Given the description of an element on the screen output the (x, y) to click on. 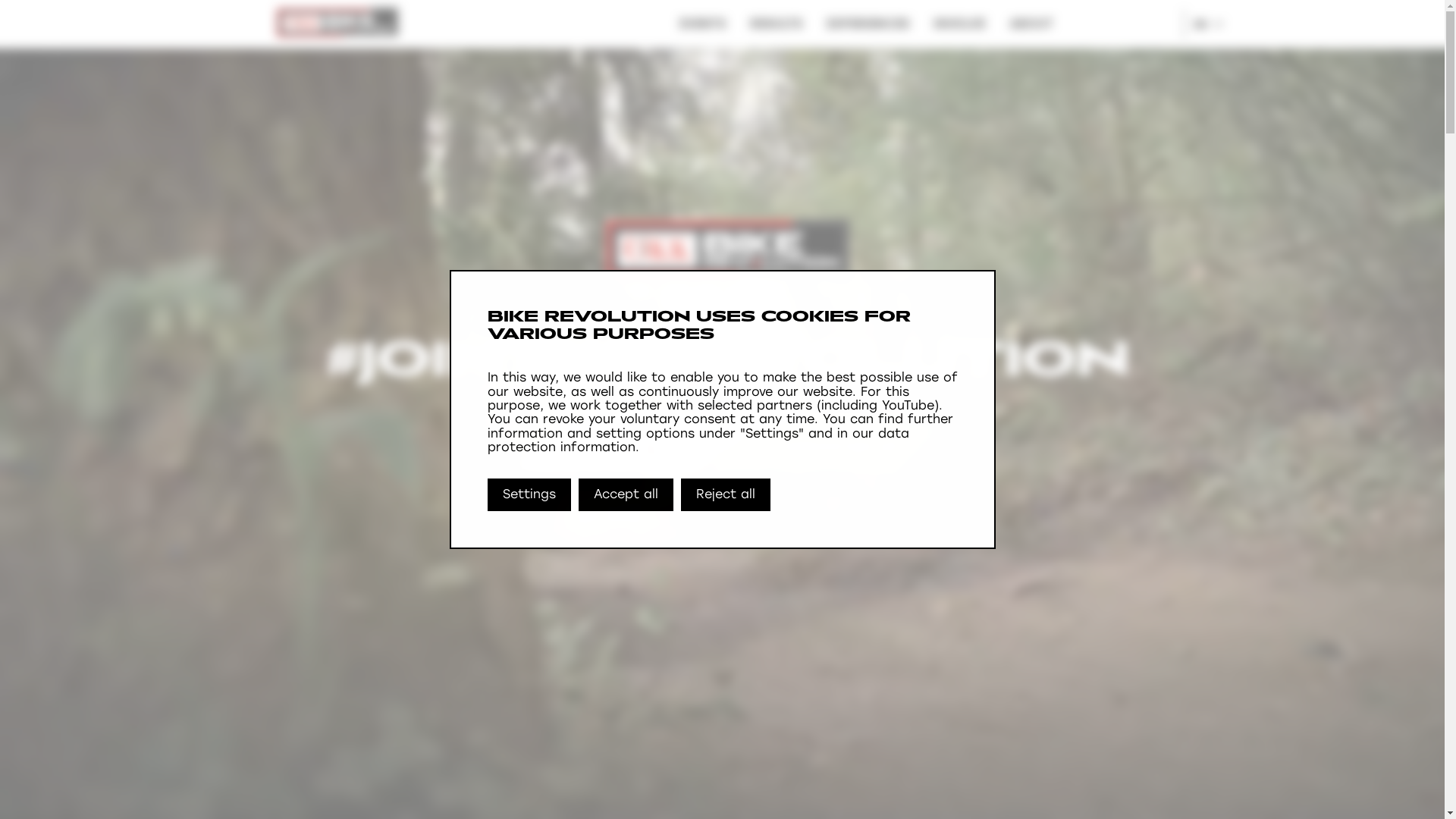
EN Element type: text (1203, 23)
INVOLVE Element type: text (958, 24)
EVENTS Element type: text (702, 24)
Reject all Element type: text (725, 494)
EXPERIENCES Element type: text (867, 24)
RESULTS Element type: text (775, 24)
Accept all Element type: text (624, 494)
ABOUT Element type: text (1030, 24)
Settings Element type: text (528, 494)
